Given the description of an element on the screen output the (x, y) to click on. 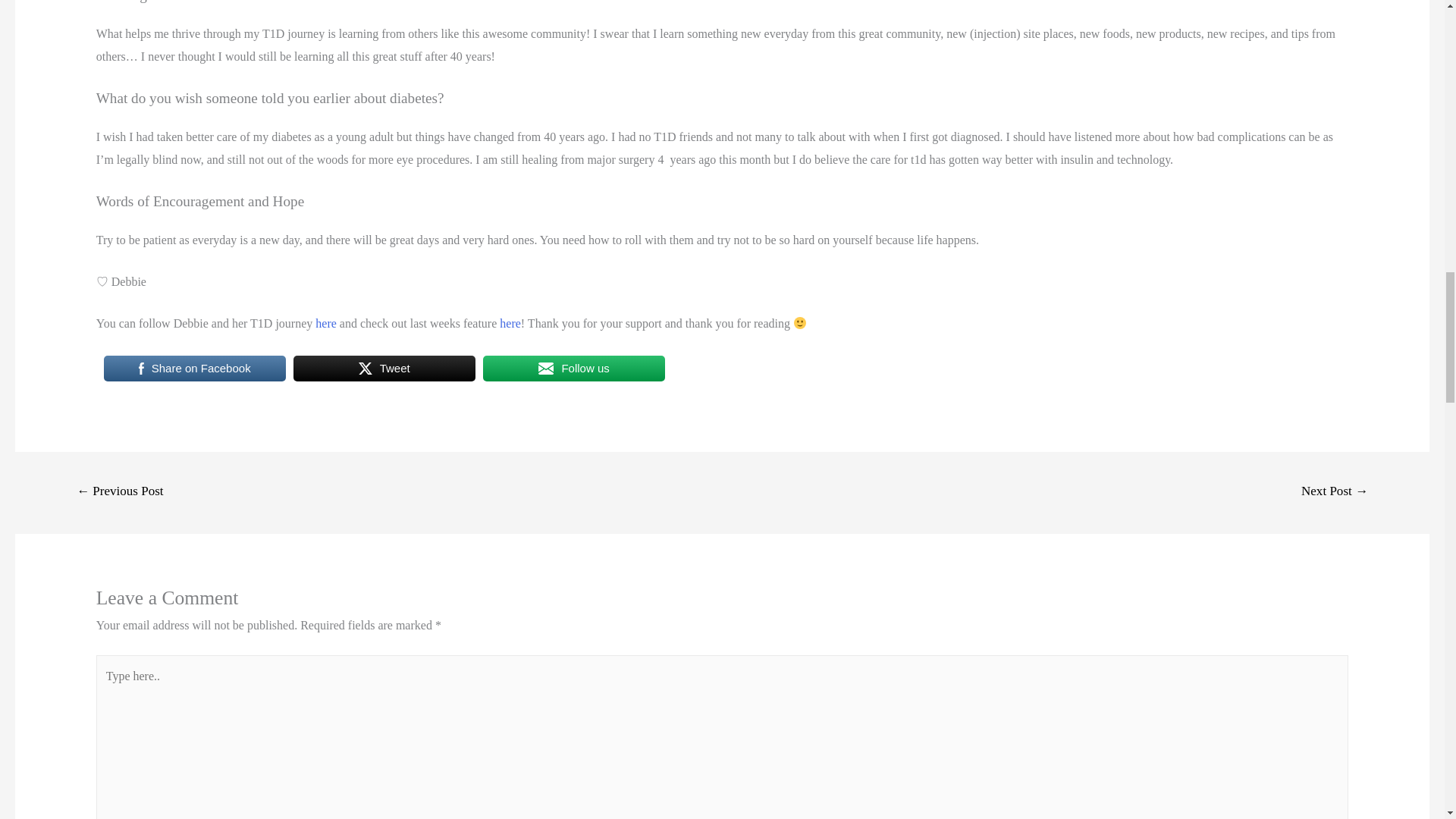
Tweet (385, 368)
Share on Facebook (194, 368)
here (508, 323)
here (324, 323)
Follow us (574, 368)
